Given the description of an element on the screen output the (x, y) to click on. 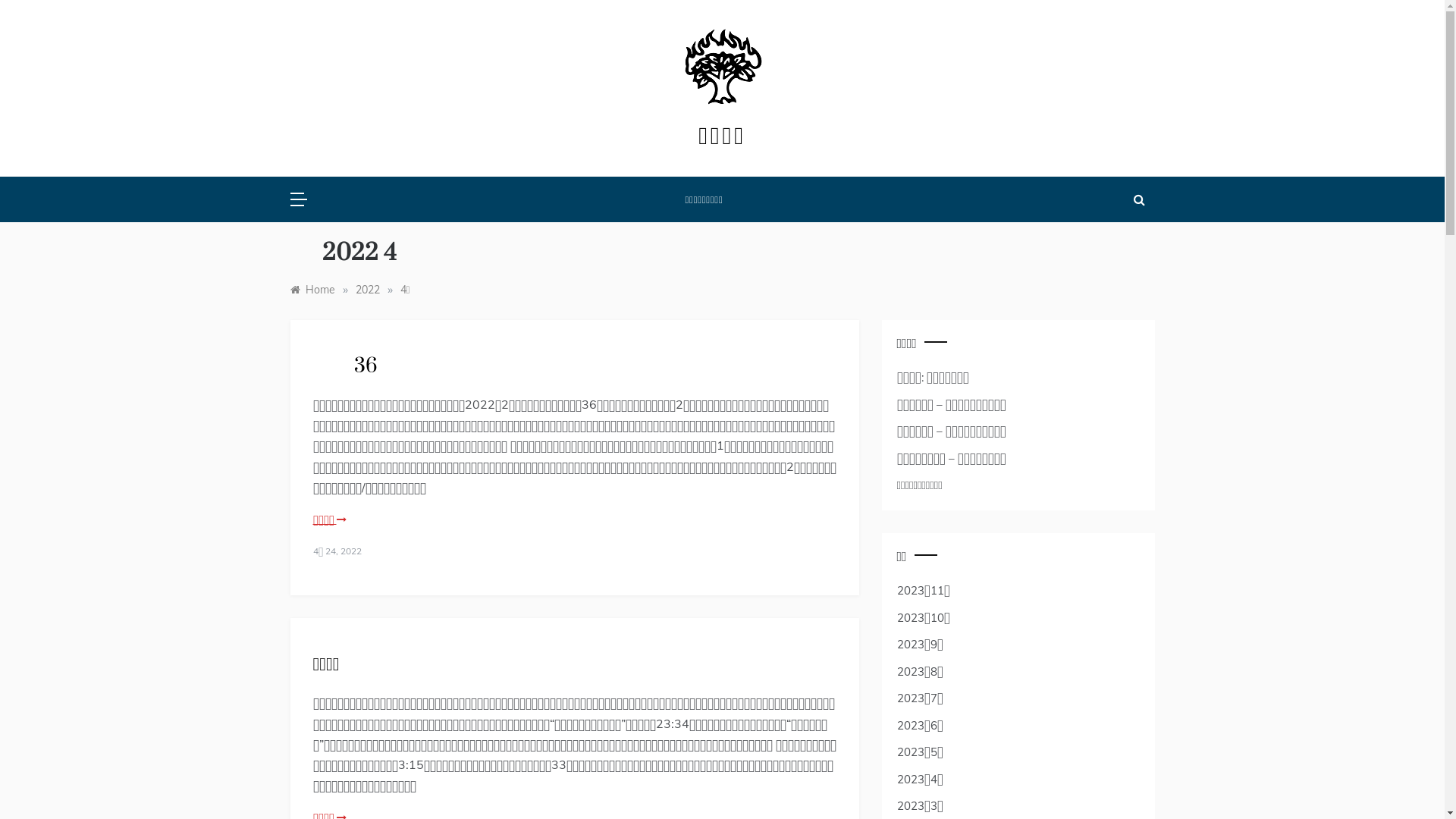
2022 Element type: text (366, 289)
Home Element type: text (311, 289)
